Given the description of an element on the screen output the (x, y) to click on. 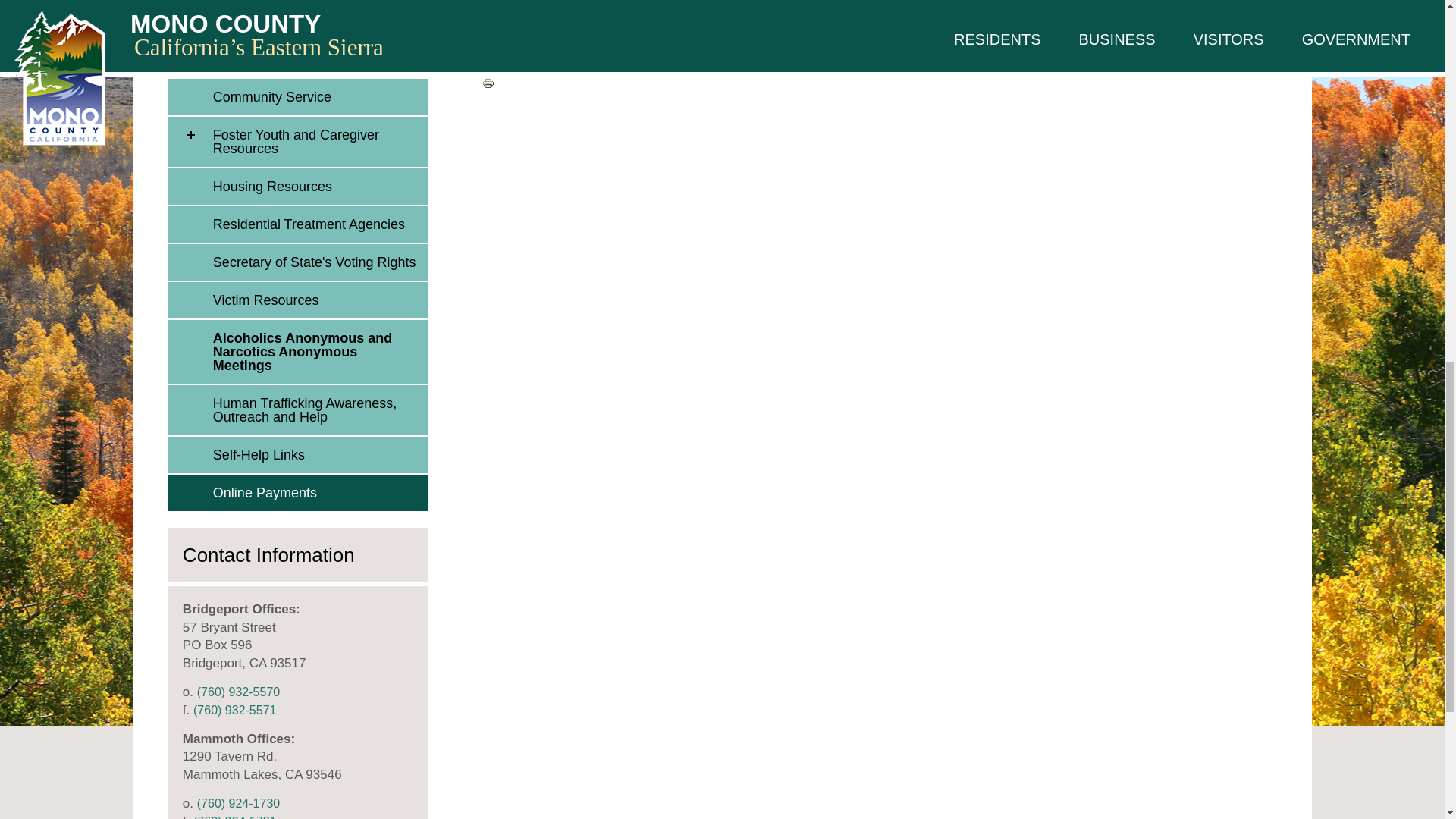
Support and resources for Foster Youth and Caregivers (316, 142)
Printer-friendly version (488, 82)
